Given the description of an element on the screen output the (x, y) to click on. 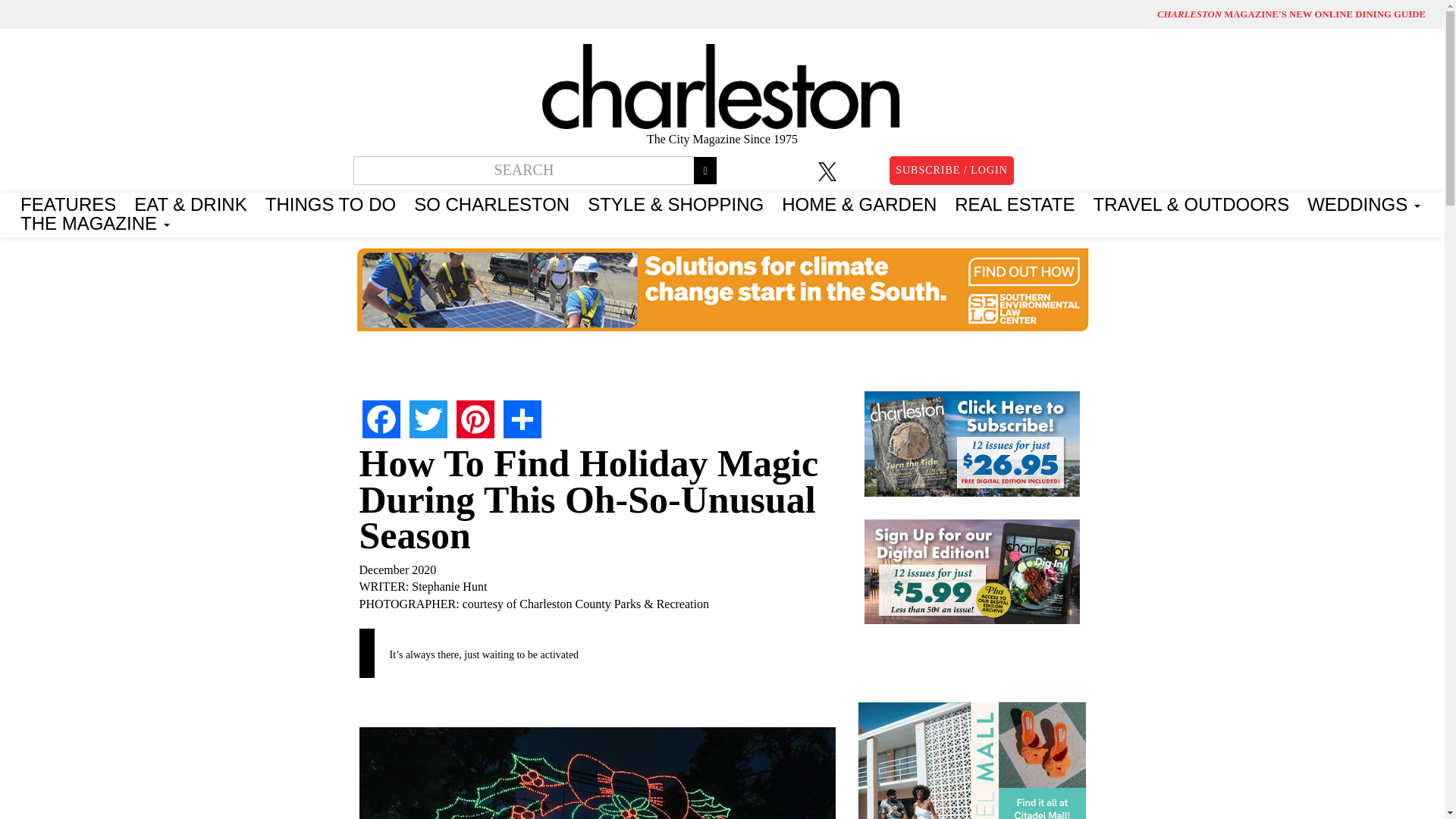
FEATURES (68, 202)
SO CHARLESTON (491, 202)
THINGS TO DO (330, 202)
CHARLESTON MAGAZINE'S NEW ONLINE DINING GUIDE (1291, 14)
THE MAGAZINE (95, 221)
Enter the terms you wish to search for. (524, 170)
REAL ESTATE (1013, 202)
WEDDINGS (1363, 202)
